Given the description of an element on the screen output the (x, y) to click on. 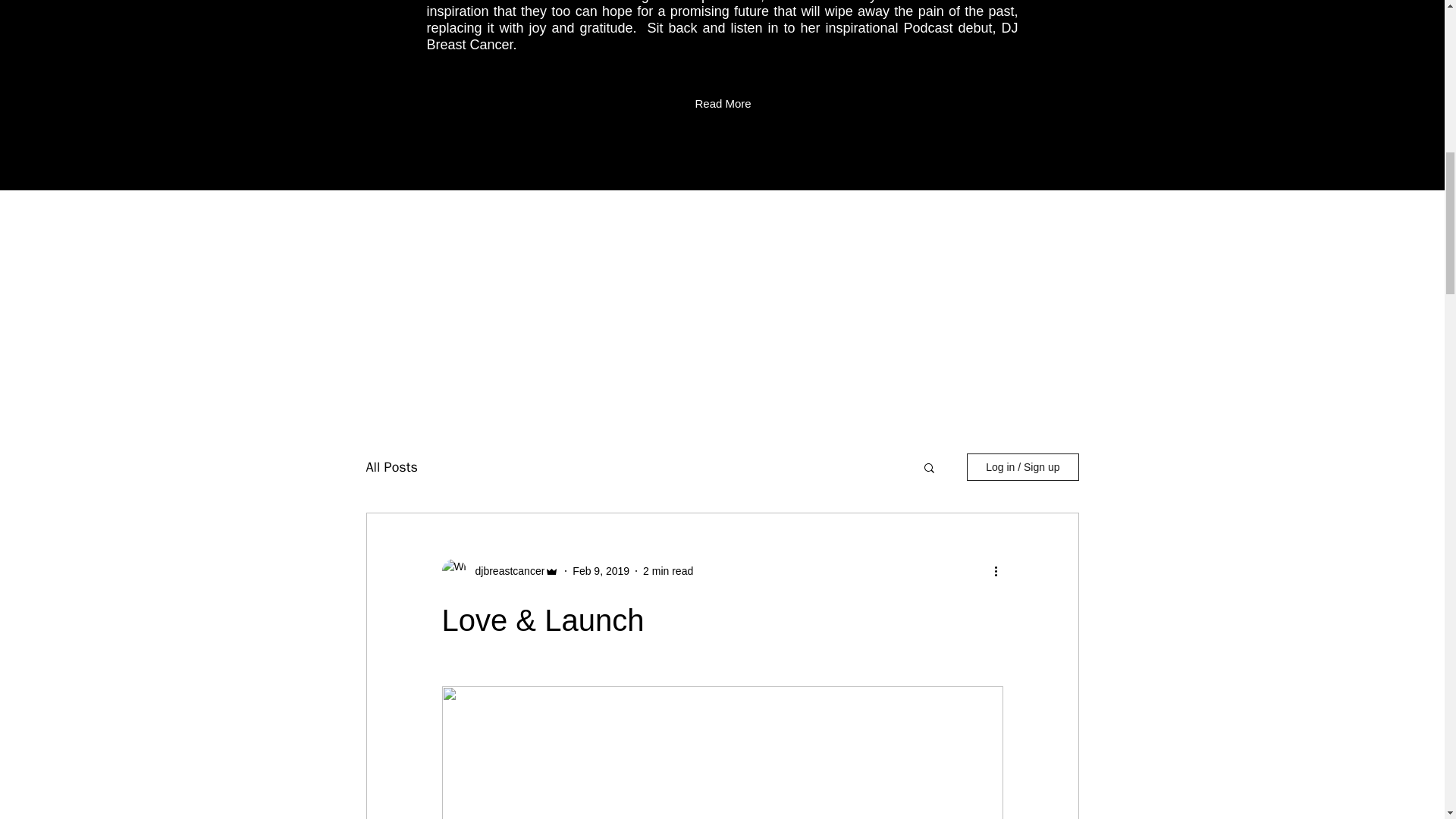
All Posts (390, 466)
Read More (722, 103)
2 min read (668, 571)
Feb 9, 2019 (600, 571)
djbreastcancer (504, 571)
